Given the description of an element on the screen output the (x, y) to click on. 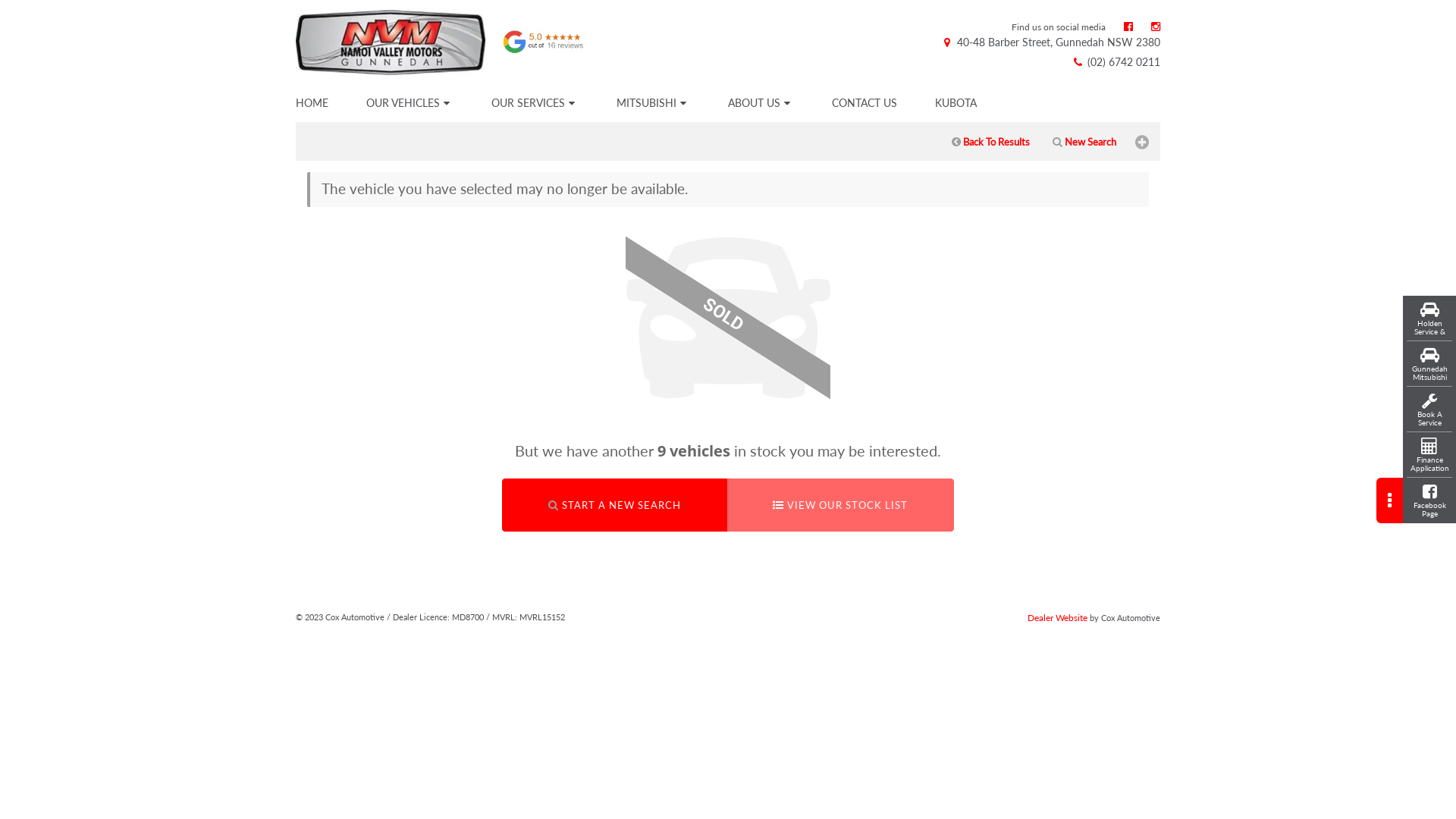
Instagram Element type: hover (1155, 26)
Book A Service Element type: text (1429, 409)
Facebook Page Element type: text (1429, 500)
(02) 6742 0211 Element type: text (1115, 61)
Finance Application Element type: text (1429, 455)
ABOUT US Element type: text (760, 103)
Gunnedah Mitsubishi Element type: text (1429, 364)
OUR SERVICES Element type: text (534, 103)
MITSUBISHI Element type: text (653, 103)
CONTACT US Element type: text (864, 103)
New Search Element type: text (1084, 141)
Back To Results Element type: text (990, 141)
Dealer Website Element type: text (1057, 617)
VIEW OUR STOCK LIST Element type: text (839, 504)
Facebook Element type: hover (1127, 26)
HOME Element type: text (313, 103)
40-48 Barber Street, Gunnedah NSW 2380 Element type: text (1050, 41)
Holden Service & Parts Element type: text (1429, 318)
START A NEW SEARCH Element type: text (614, 504)
KUBOTA Element type: text (955, 103)
OUR VEHICLES Element type: text (409, 103)
